Given the description of an element on the screen output the (x, y) to click on. 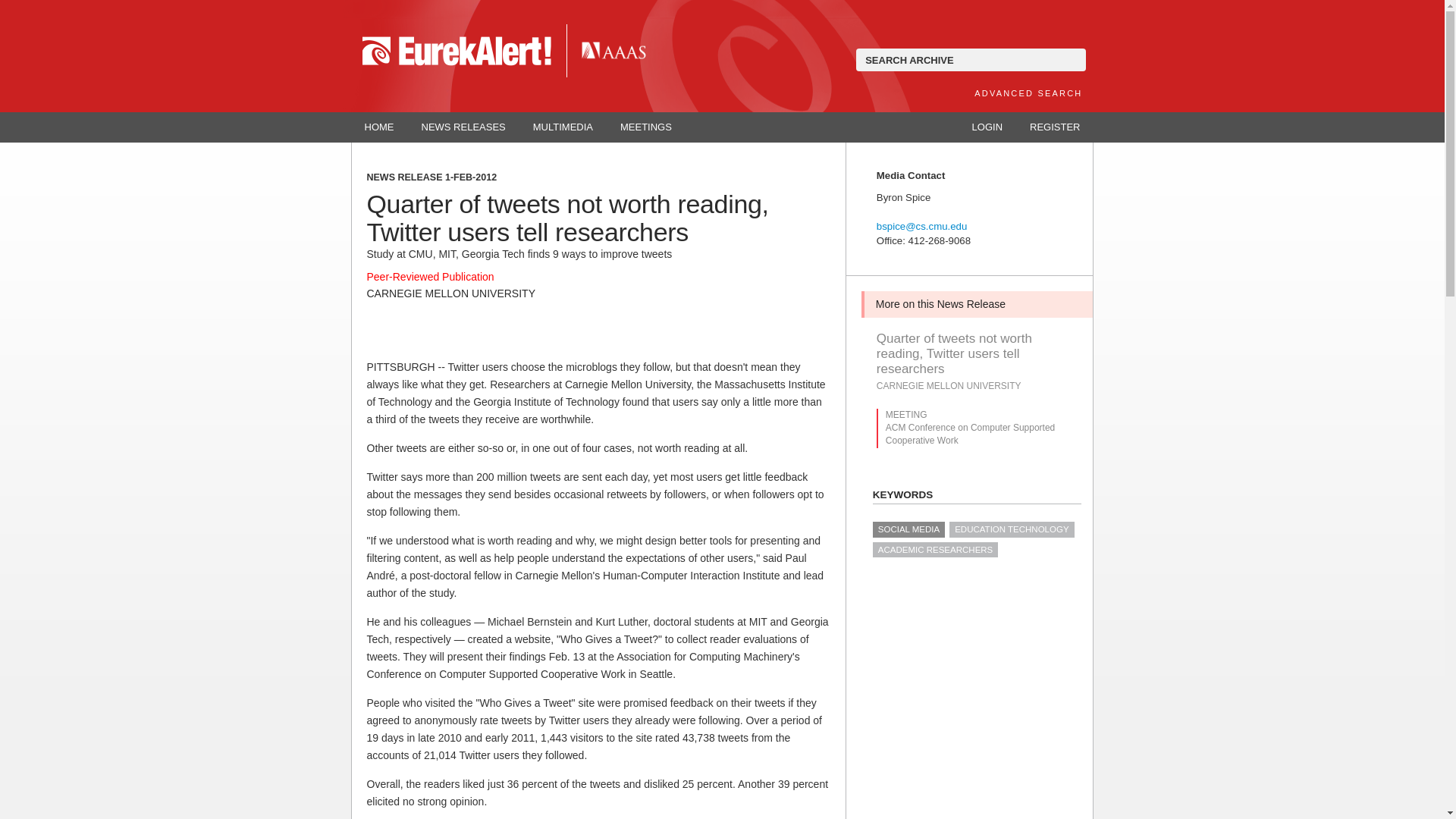
EDUCATION TECHNOLOGY (1011, 529)
HOME (378, 127)
SOCIAL MEDIA (908, 529)
LOGIN (987, 127)
Peer-Reviewed Publication (430, 276)
REGISTER (1054, 127)
ACADEMIC RESEARCHERS (934, 549)
MEETINGS (646, 127)
NEWS RELEASES (463, 127)
MULTIMEDIA (563, 127)
ADVANCED SEARCH (1027, 92)
